Given the description of an element on the screen output the (x, y) to click on. 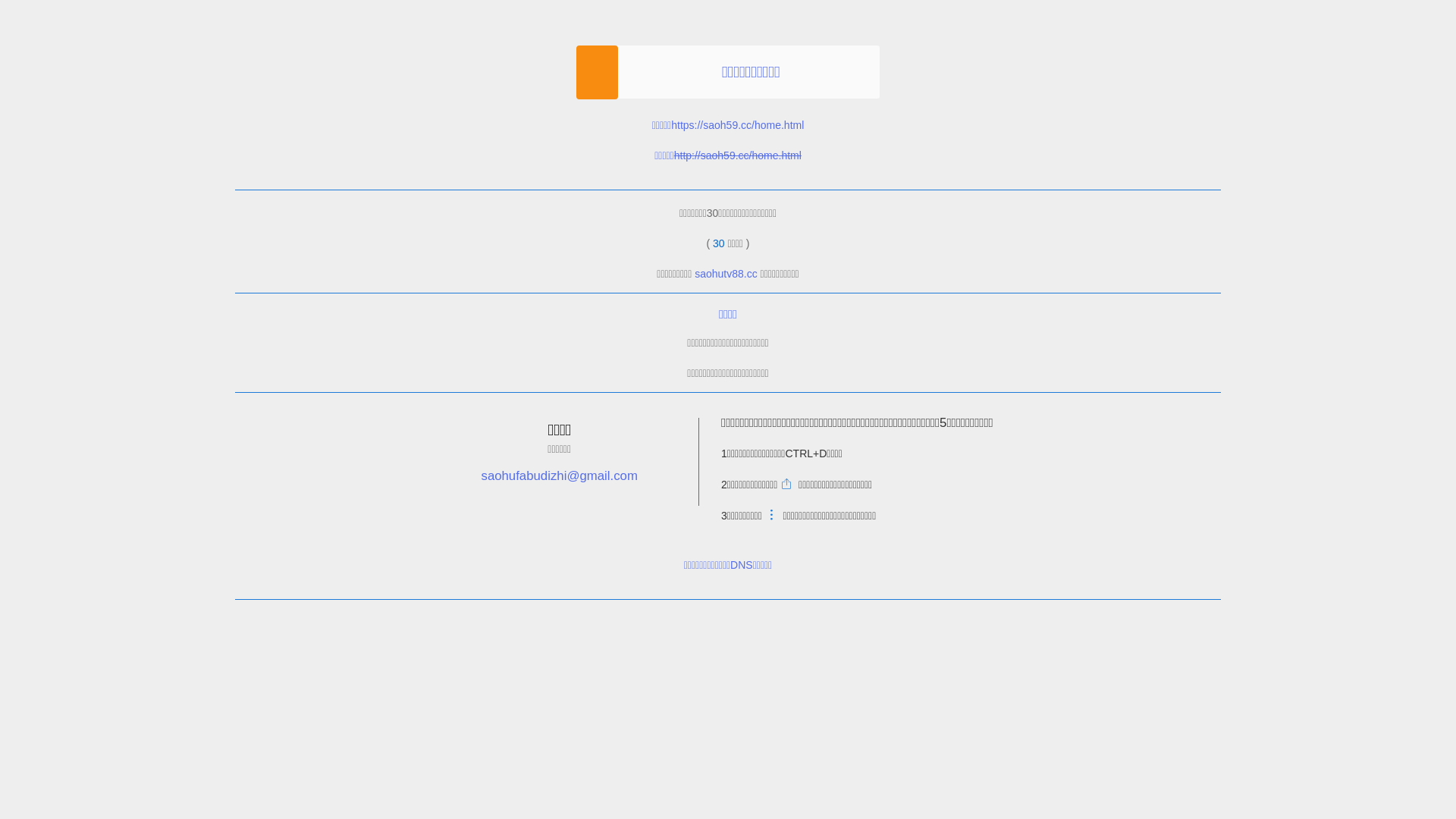
saohutv88.cc Element type: text (725, 273)
